Given the description of an element on the screen output the (x, y) to click on. 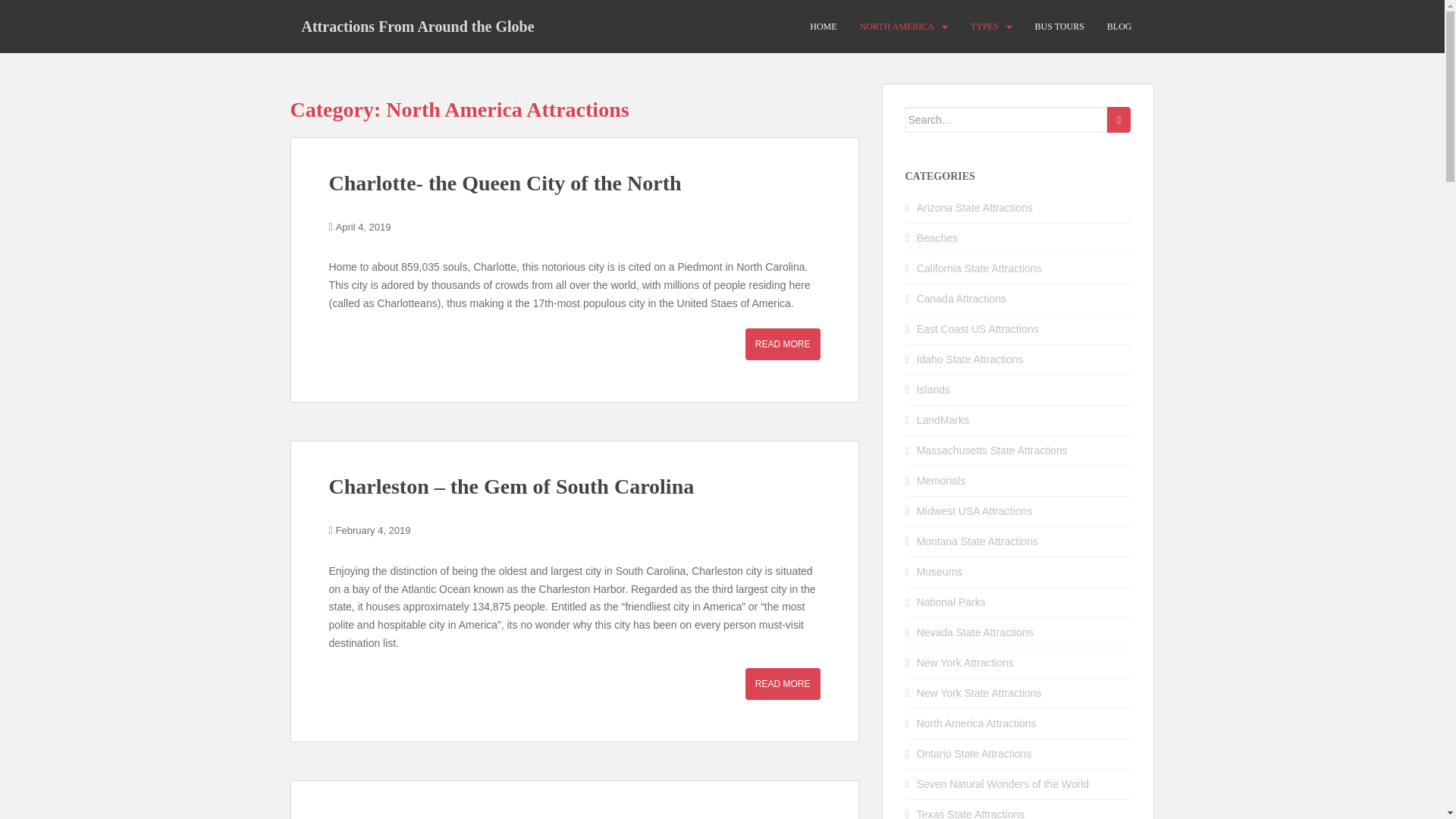
READ MORE (783, 684)
BUS TOURS (1059, 26)
April 4, 2019 (363, 226)
Search for: (1006, 119)
TYPES (984, 26)
Zion National Park (417, 816)
NORTH AMERICA (897, 26)
February 4, 2019 (373, 530)
READ MORE (783, 344)
Charlotte- the Queen City of the North (505, 182)
Attractions From Around the Globe (416, 26)
Attractions From Around the Globe (416, 26)
